Given the description of an element on the screen output the (x, y) to click on. 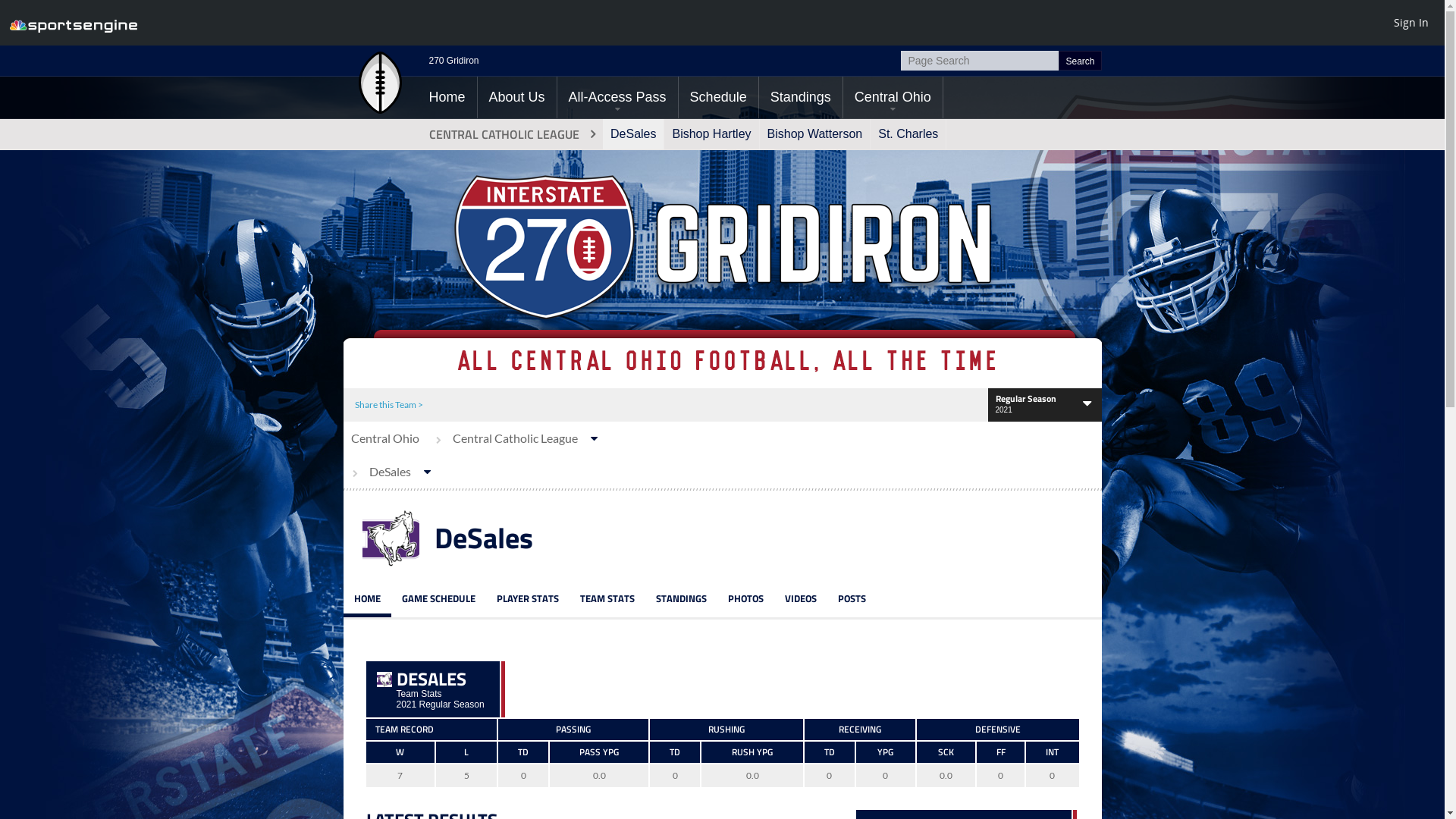
St. Charles Element type: text (907, 134)
Bishop Hartley Element type: text (711, 134)
DeSales Element type: hover (383, 679)
DeSales Element type: text (482, 538)
DeSales Element type: text (632, 134)
Central Ohio Element type: text (892, 97)
GAME SCHEDULE Element type: text (438, 598)
HOME Element type: text (366, 598)
PLAYER STATS Element type: text (526, 598)
About Us Element type: text (516, 97)
All-Access Pass Element type: text (617, 97)
Bishop Watterson Element type: text (814, 134)
CENTRAL CATHOLIC LEAGUE Element type: text (509, 134)
Share this Team > Element type: text (388, 404)
TEAM STATS Element type: text (606, 598)
PHOTOS Element type: text (745, 598)
DESALES
Team Stats Element type: text (439, 682)
Sign In Element type: text (1410, 22)
Standings Element type: text (800, 97)
SportsEngine Element type: text (73, 22)
Central Catholic League Element type: text (518, 438)
Home Element type: text (446, 97)
Schedule Element type: text (718, 97)
DeSales Element type: text (393, 471)
POSTS Element type: text (850, 598)
Central Ohio Element type: text (384, 438)
VIDEOS Element type: text (799, 598)
STANDINGS Element type: text (680, 598)
